Given the description of an element on the screen output the (x, y) to click on. 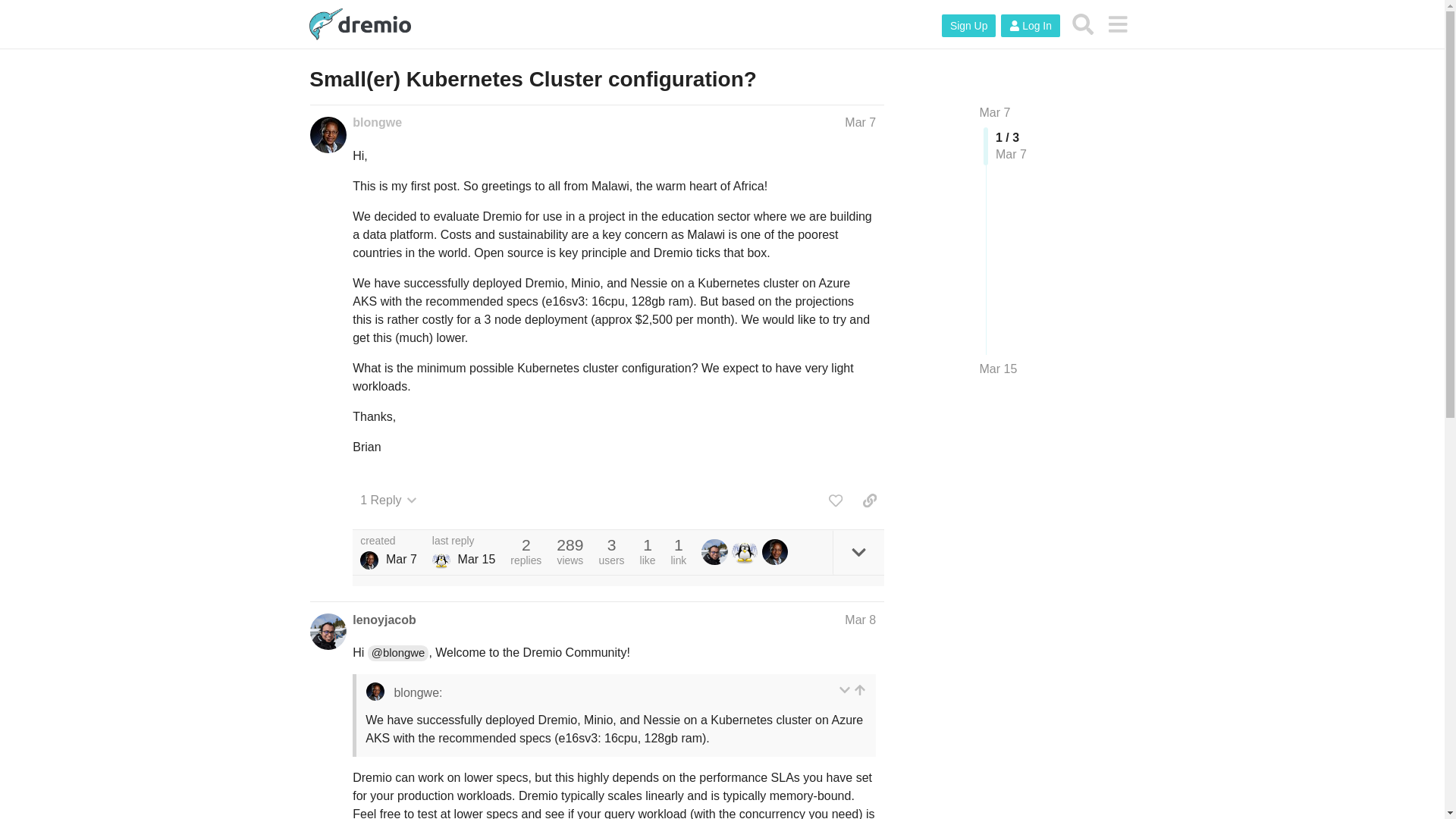
Brian Longwe (368, 560)
Post date (860, 122)
Mar 15, 2024 5:11 am (477, 558)
like this post (835, 500)
Jump to the first post (994, 112)
Mar 7 (994, 112)
Mar 15 (998, 369)
lenoyjacob (384, 619)
lenoyjacob (716, 551)
1 Reply (387, 500)
Mar 7, 2024 4:16 pm (400, 558)
Mar 7 (860, 122)
Lenoy Jacob (713, 551)
Michal Smereczynski (440, 560)
last reply (464, 541)
